Given the description of an element on the screen output the (x, y) to click on. 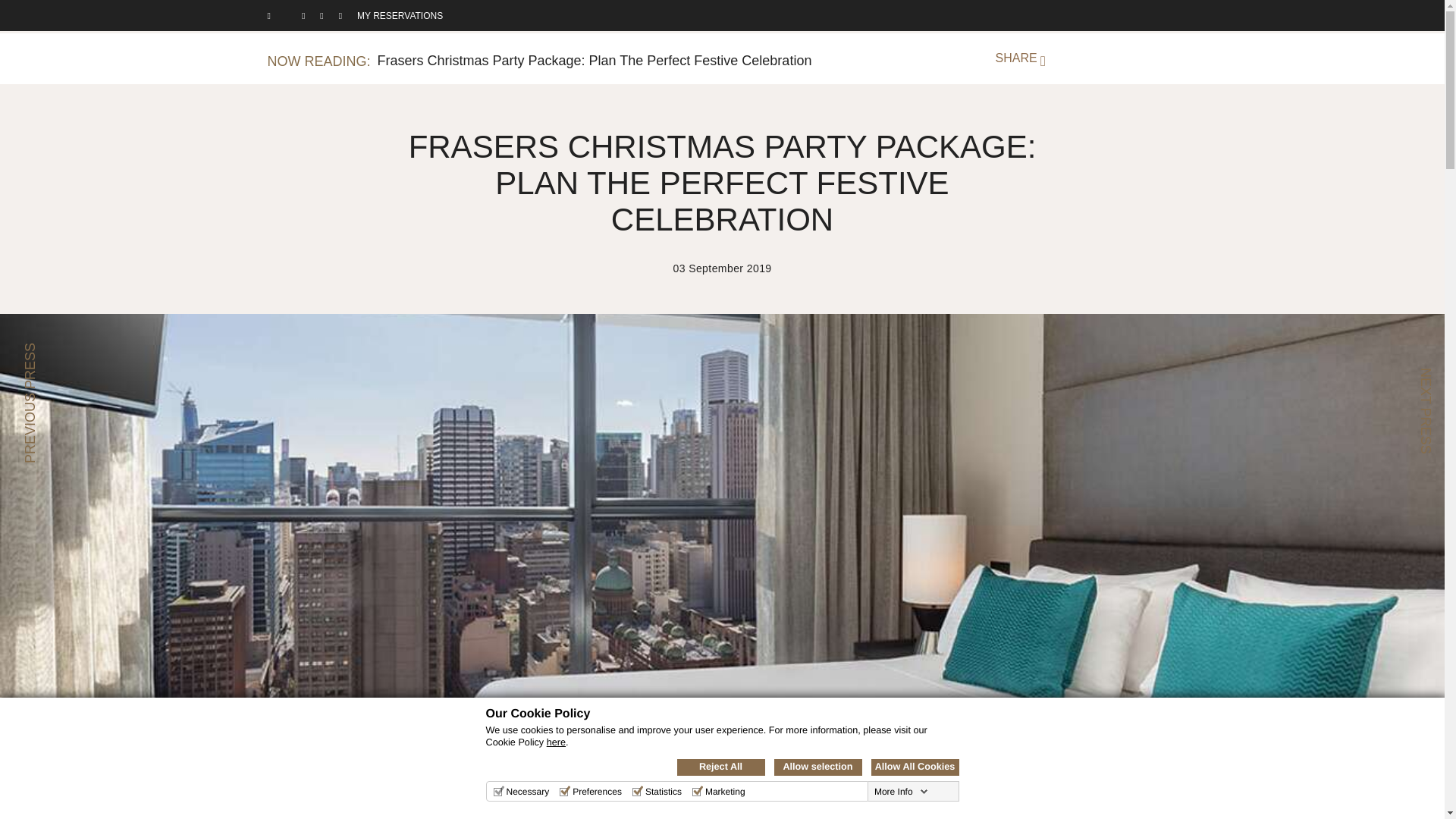
Allow All Cookies (914, 767)
More Info (900, 791)
Allow selection (817, 767)
here (556, 742)
Reject All (720, 767)
